Given the description of an element on the screen output the (x, y) to click on. 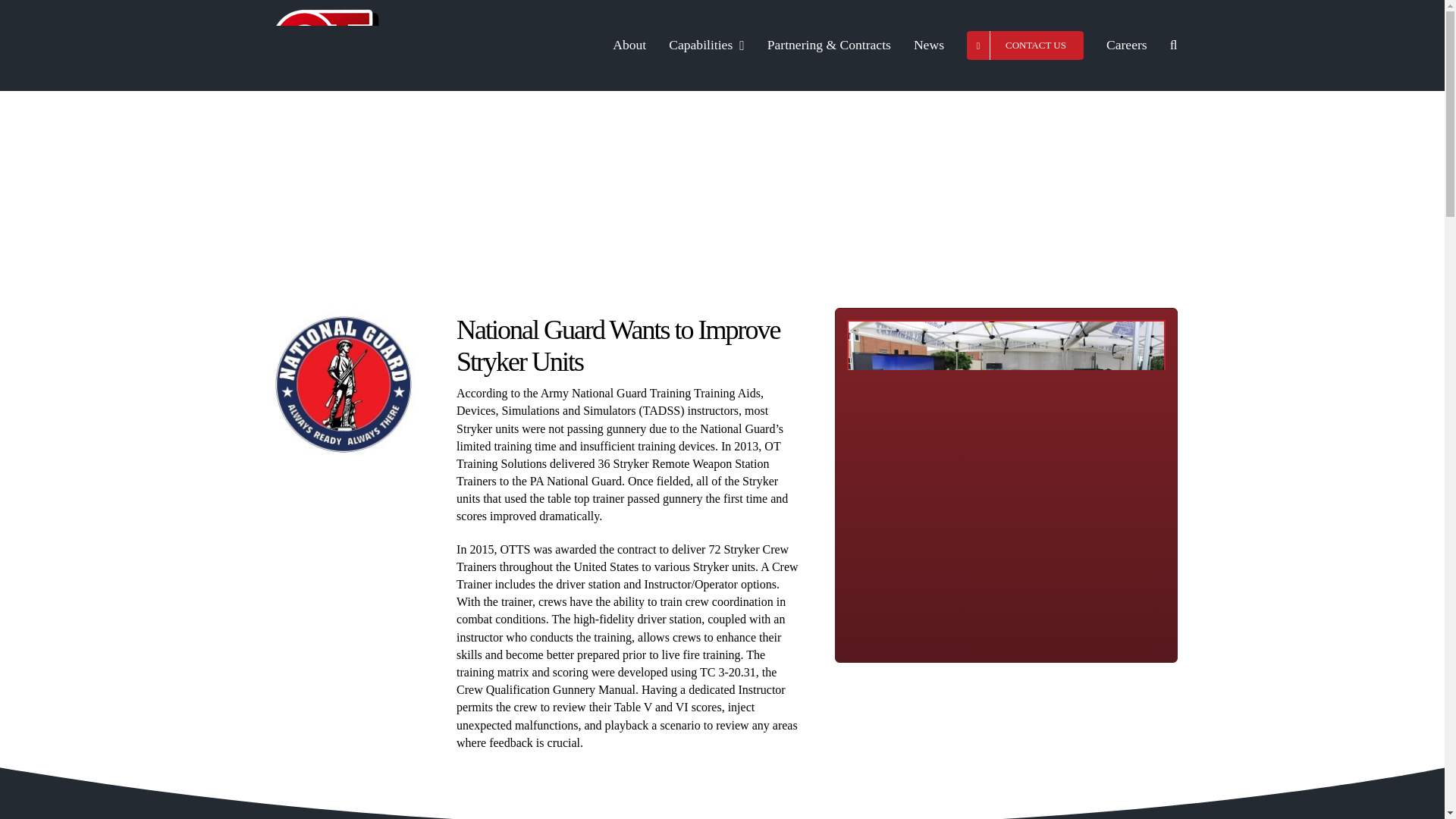
CONTACT US (1024, 45)
National-Guard (343, 384)
TADSS-and-Stryker-Remote-Weapon-Station-Trainers (1005, 479)
